Given the description of an element on the screen output the (x, y) to click on. 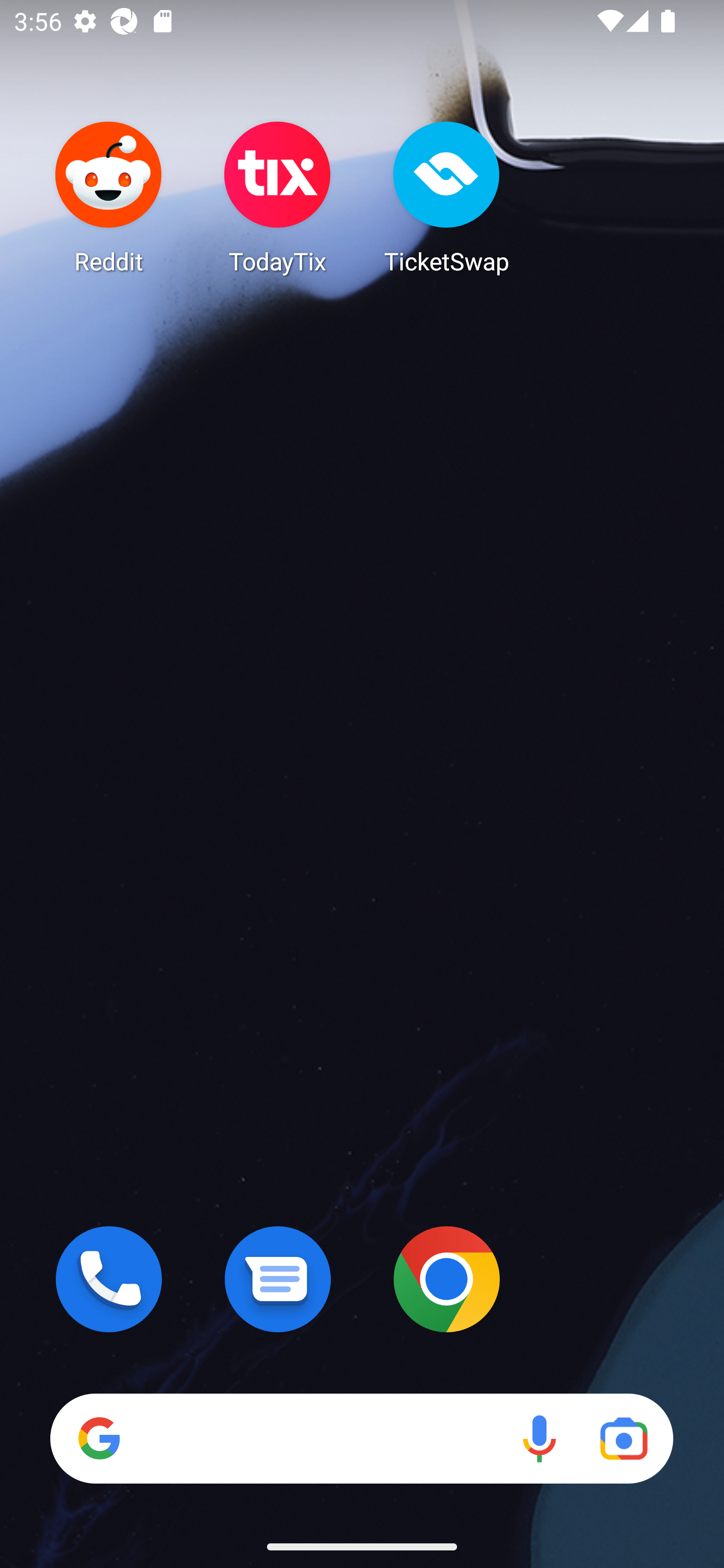
Reddit (108, 196)
TodayTix (277, 196)
TicketSwap (445, 196)
Phone (108, 1279)
Messages (277, 1279)
Chrome (446, 1279)
Voice search (539, 1438)
Google Lens (623, 1438)
